Given the description of an element on the screen output the (x, y) to click on. 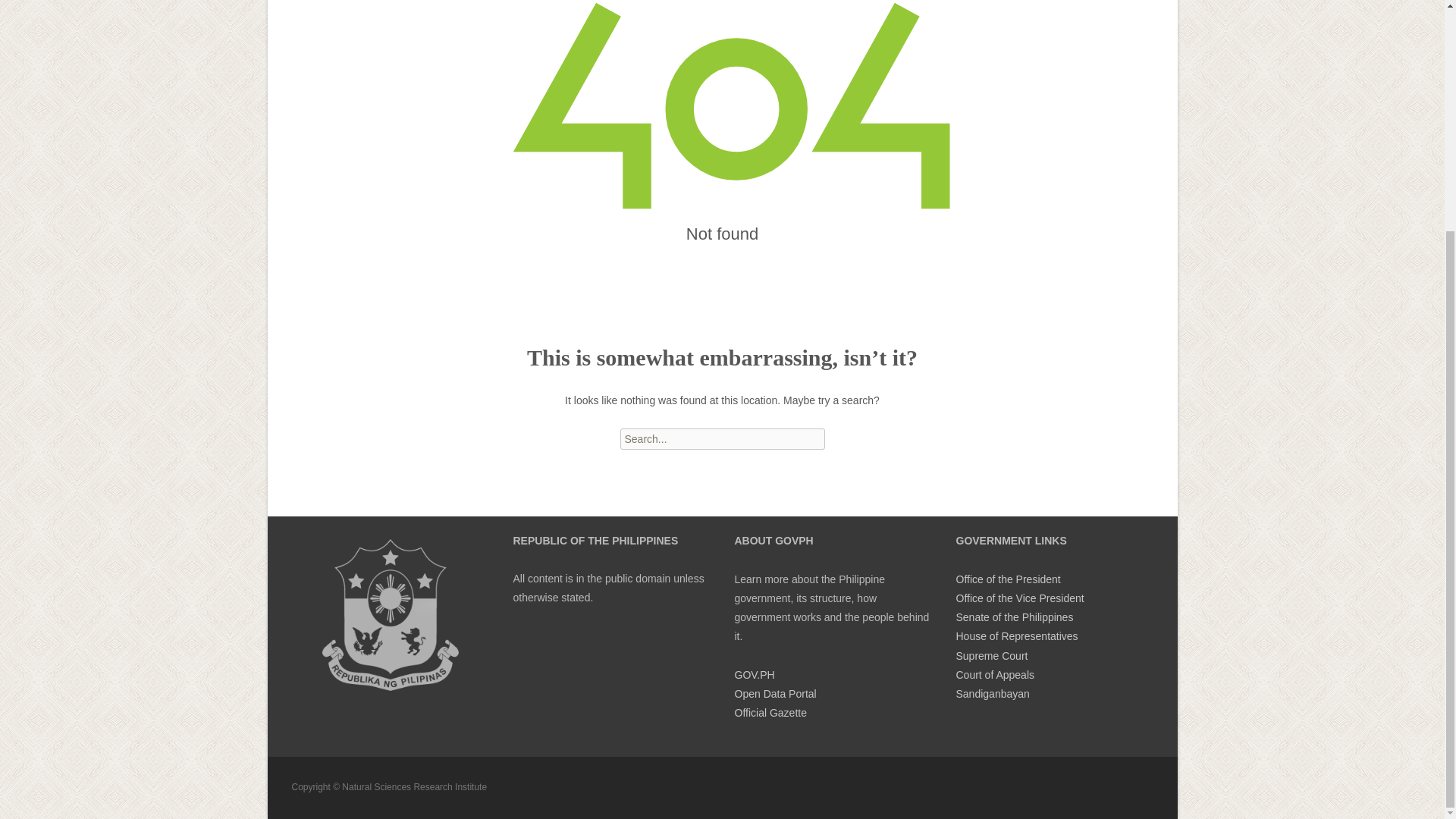
Supreme Court (991, 655)
Sandiganbayan (992, 693)
Official Gazette (769, 712)
Open Data Portal (774, 693)
Office of the Vice President (1019, 598)
Search for: (722, 438)
Office of the President (1007, 579)
GOV.PH (753, 674)
Court of Appeals (994, 674)
Senate of the Philippines (1014, 616)
House of Representatives (1016, 635)
